Given the description of an element on the screen output the (x, y) to click on. 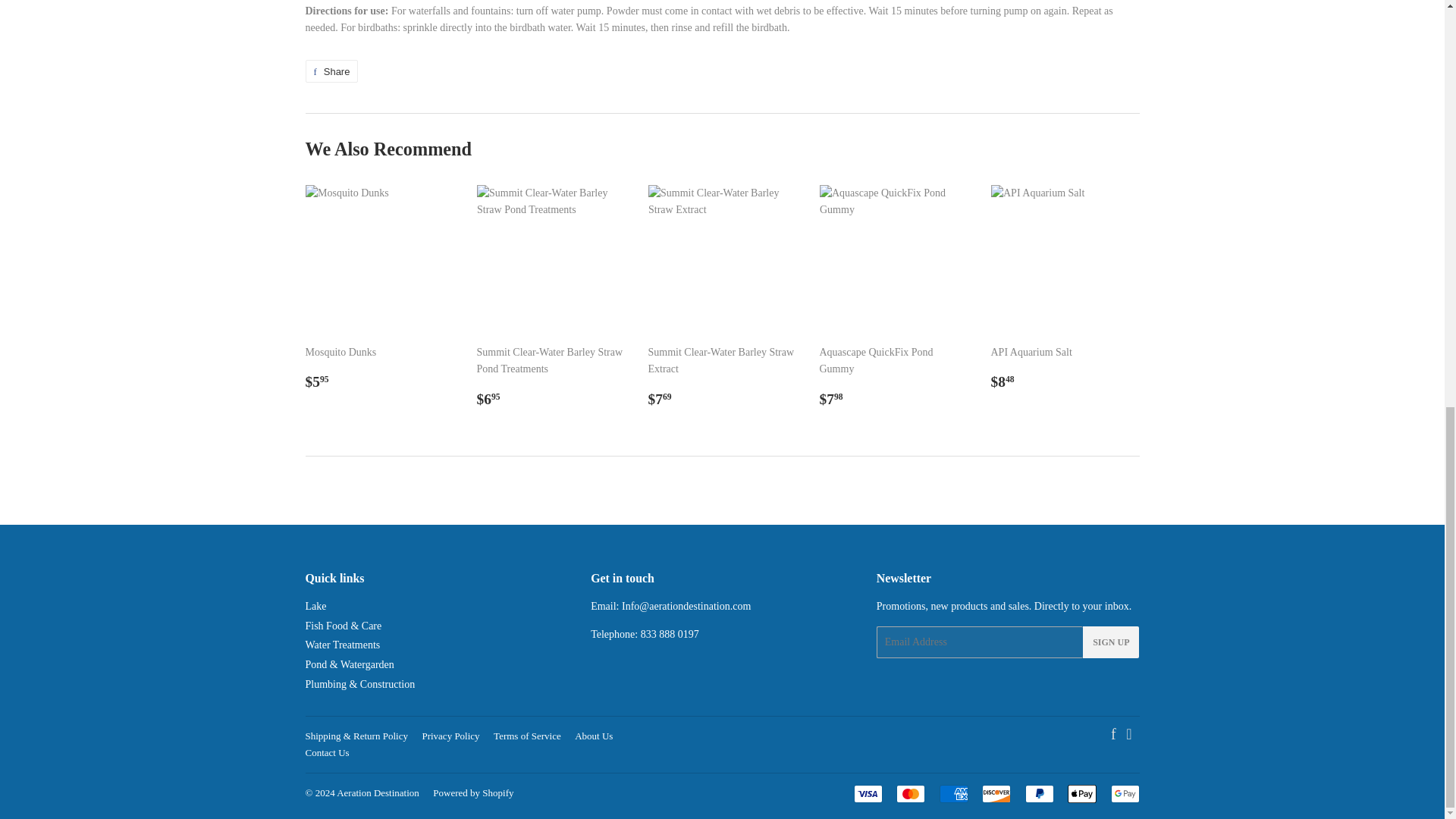
Visa (867, 793)
PayPal (1039, 793)
Google Pay (1123, 793)
Mastercard (910, 793)
Share on Facebook (331, 70)
Discover (995, 793)
Apple Pay (1081, 793)
American Express (953, 793)
